Given the description of an element on the screen output the (x, y) to click on. 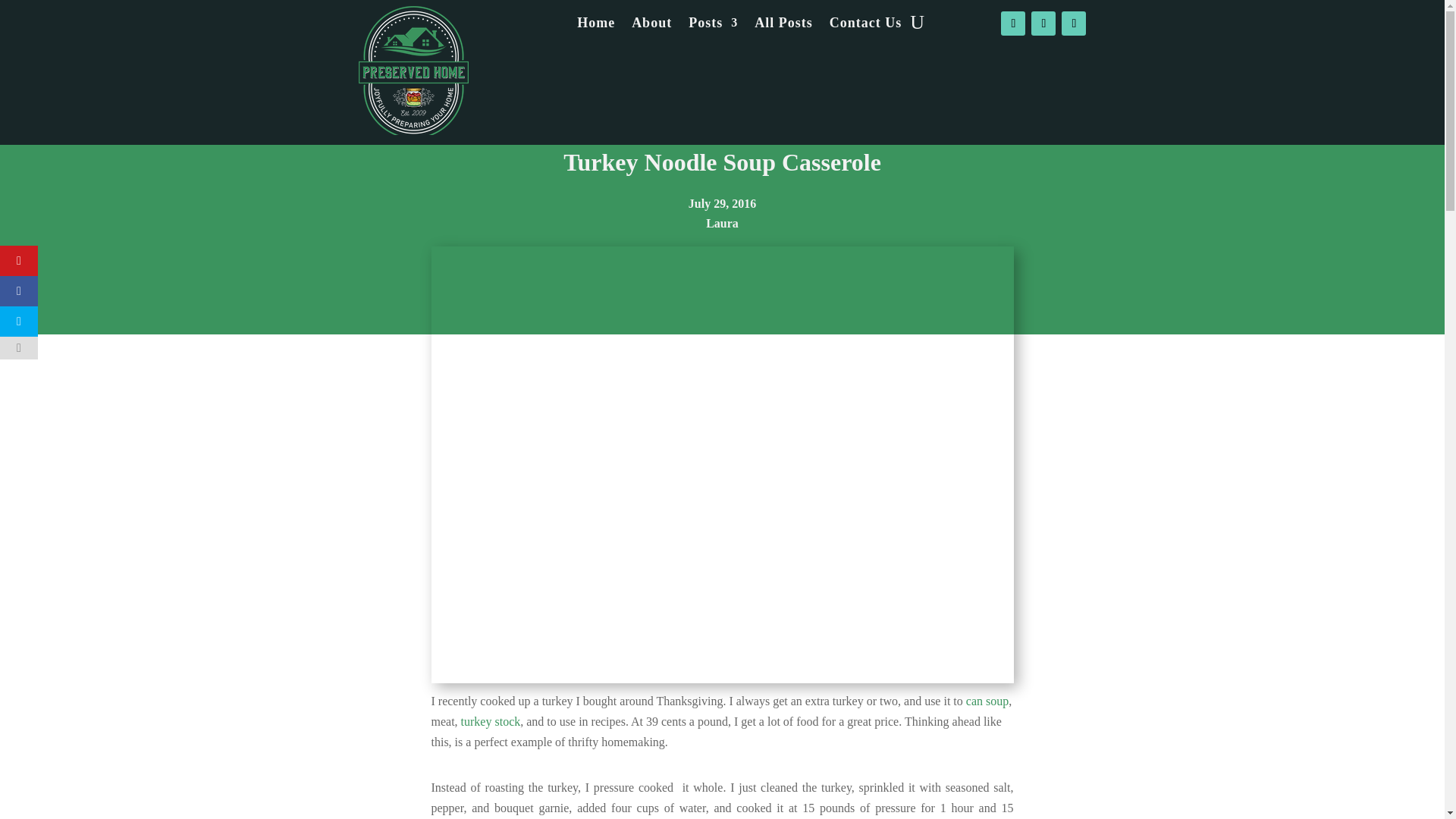
All Posts (783, 25)
turkey stock (491, 721)
Follow on Pinterest (1073, 23)
Follow on Facebook (1013, 23)
can soup (987, 700)
Posts (713, 25)
Home (595, 25)
Follow on Instagram (1042, 23)
About (651, 25)
